Given the description of an element on the screen output the (x, y) to click on. 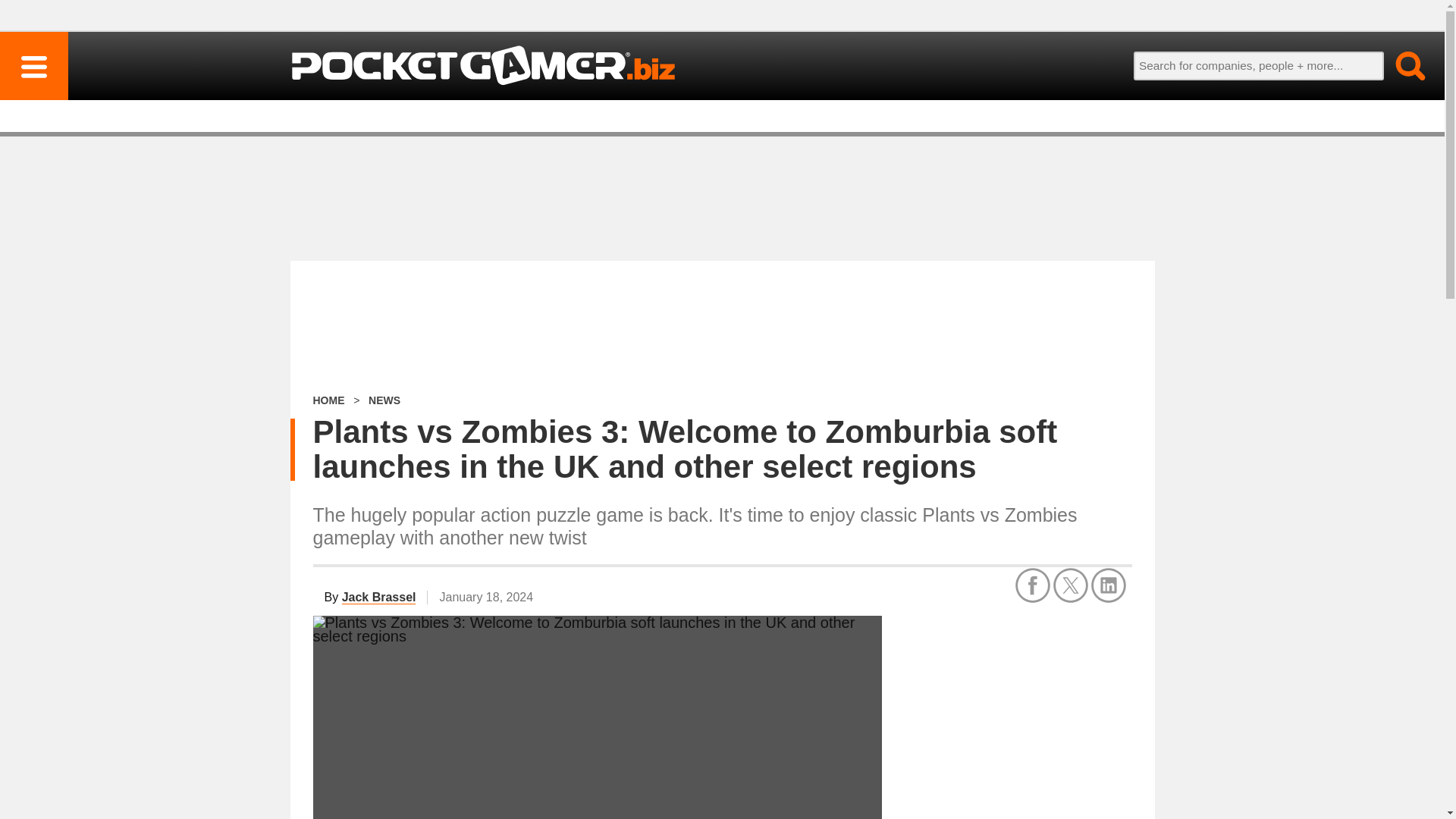
Jack Brassel (379, 597)
HOME (328, 400)
Go (1402, 65)
NEWS (384, 400)
Go (1402, 65)
